Given the description of an element on the screen output the (x, y) to click on. 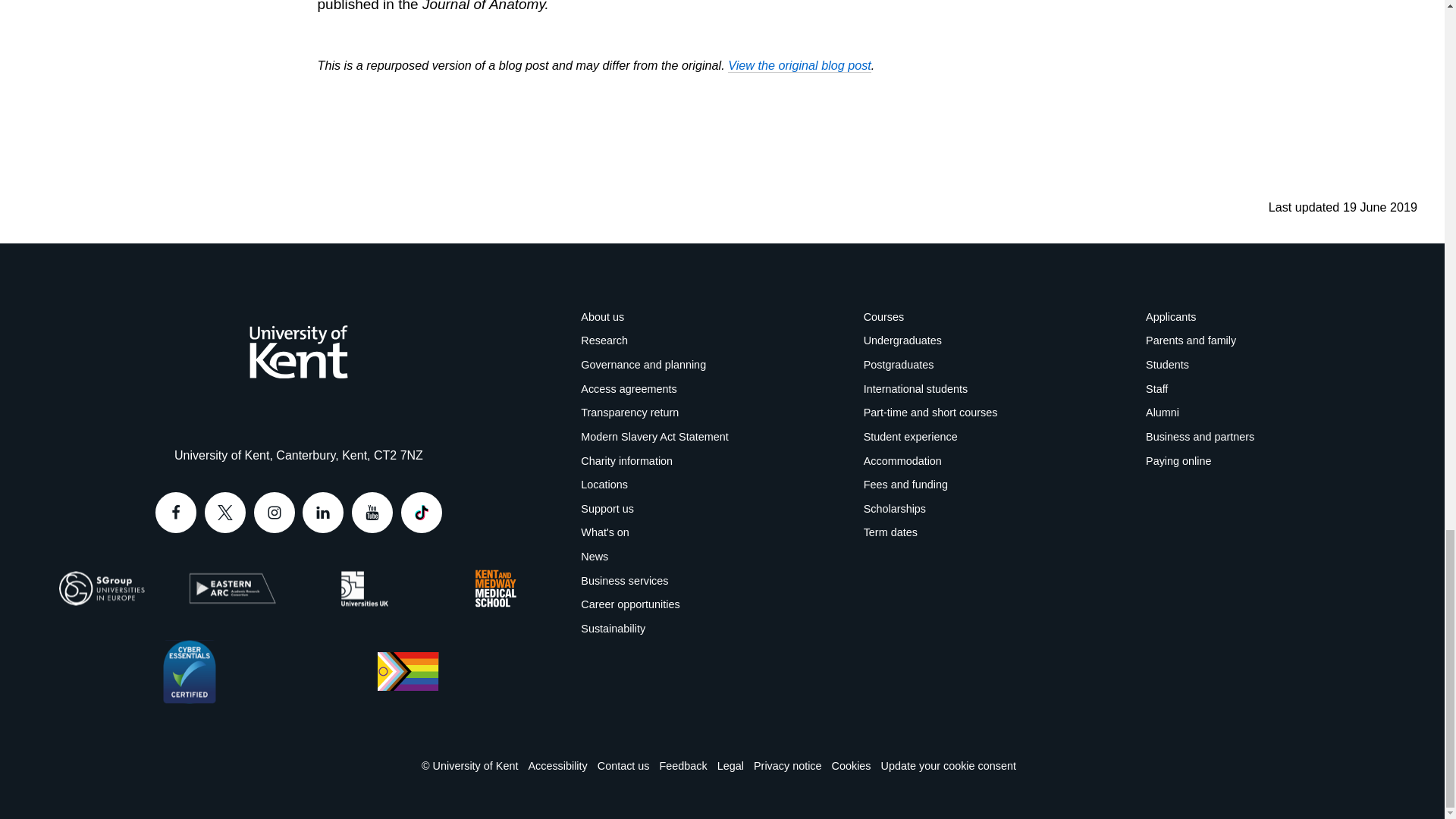
View the original blog post (799, 65)
Subscribe to us on TikTok (421, 512)
Subscribe to us on Youtube (372, 512)
Connect with us on LinkedIn (322, 512)
Follow us on Instagram (274, 512)
Connect with us on Facebook (175, 512)
University of Kent logo (297, 351)
Follow us on X (225, 512)
